Given the description of an element on the screen output the (x, y) to click on. 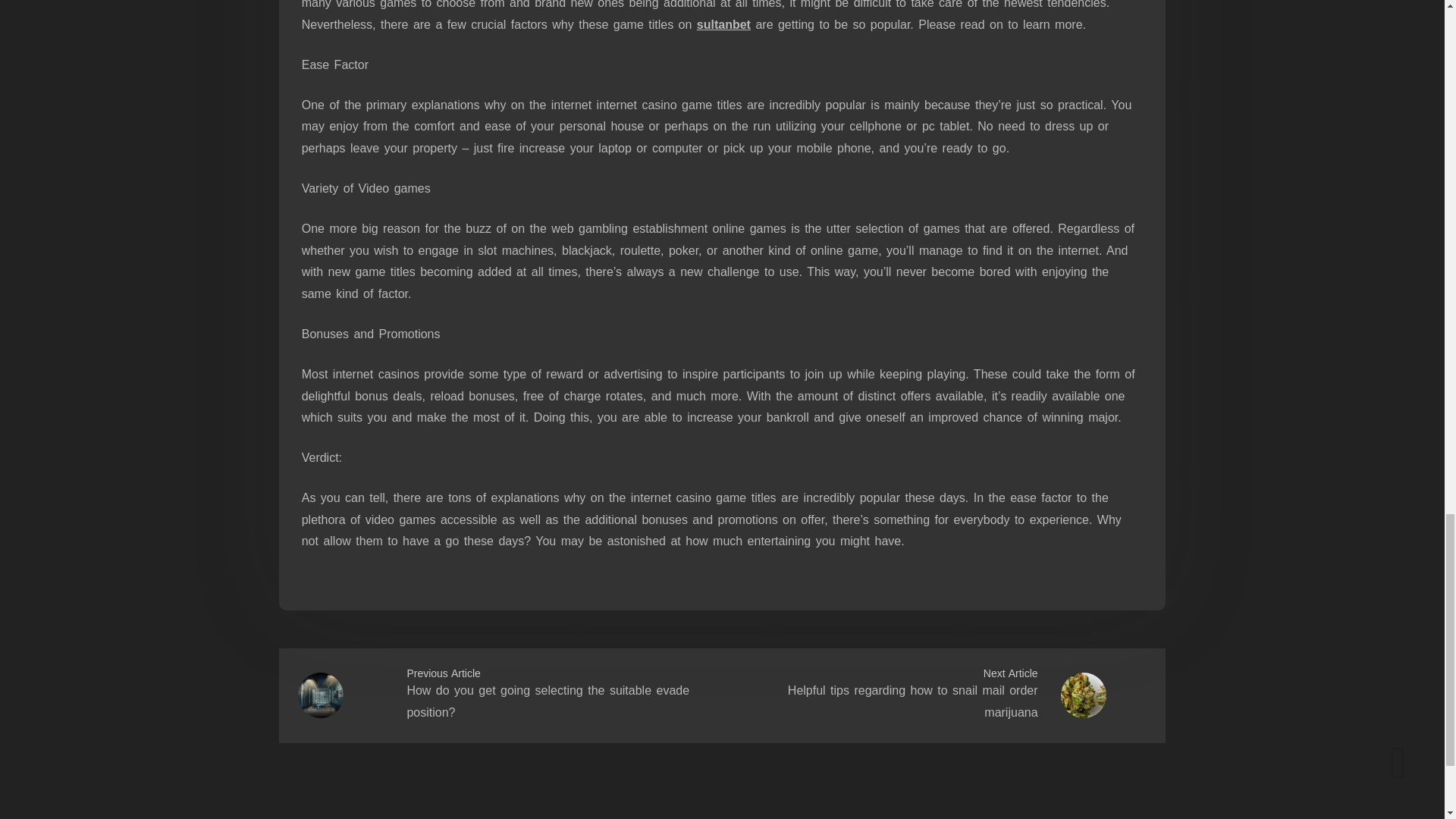
How do you get going selecting the suitable evade position? (547, 701)
sultanbet (724, 24)
Helpful tips regarding how to snail mail order marijuana (912, 701)
